Given the description of an element on the screen output the (x, y) to click on. 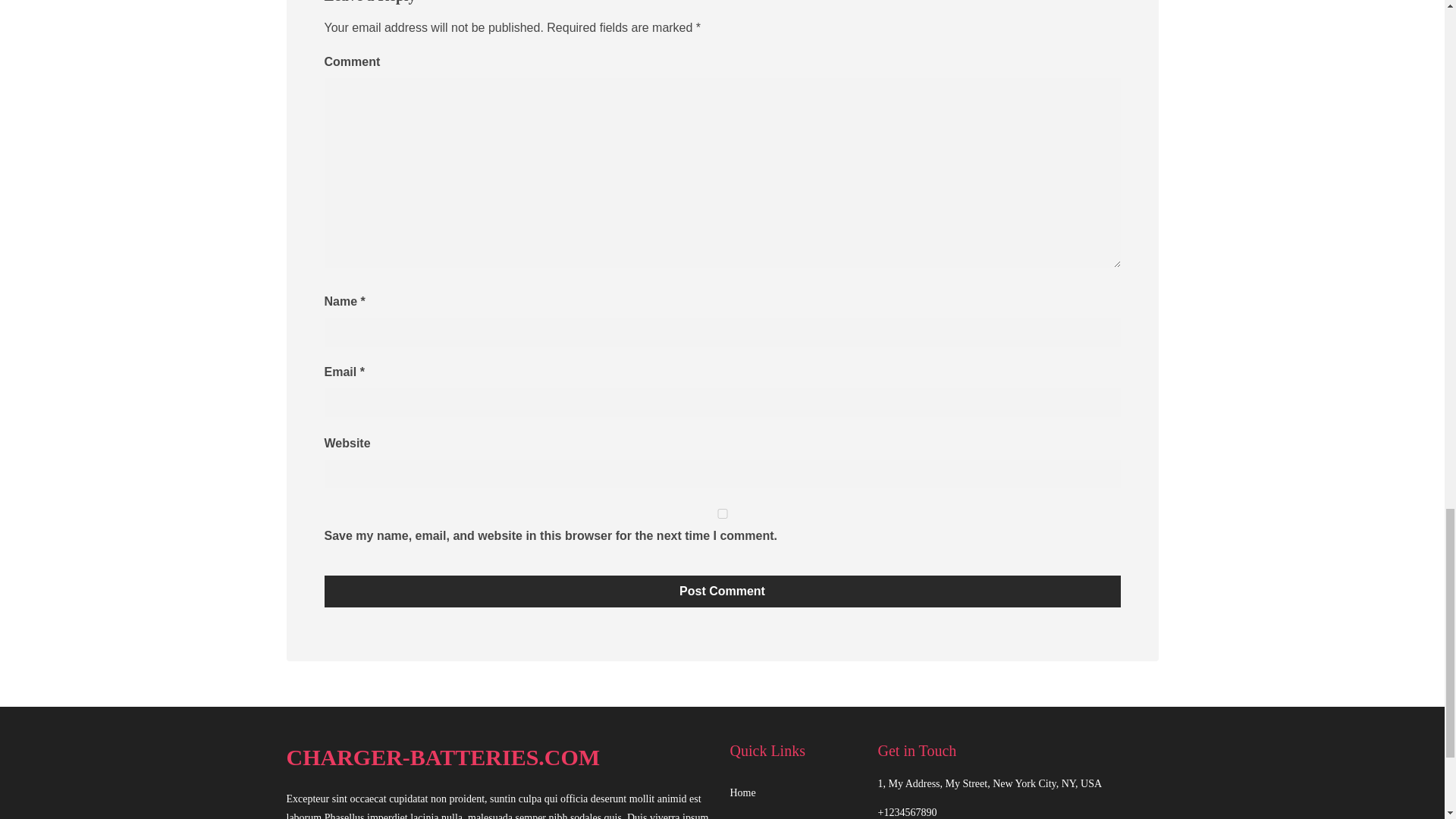
Post Comment (722, 591)
CHARGER-BATTERIES.COM (500, 757)
yes (722, 513)
Post Comment (722, 591)
